Given the description of an element on the screen output the (x, y) to click on. 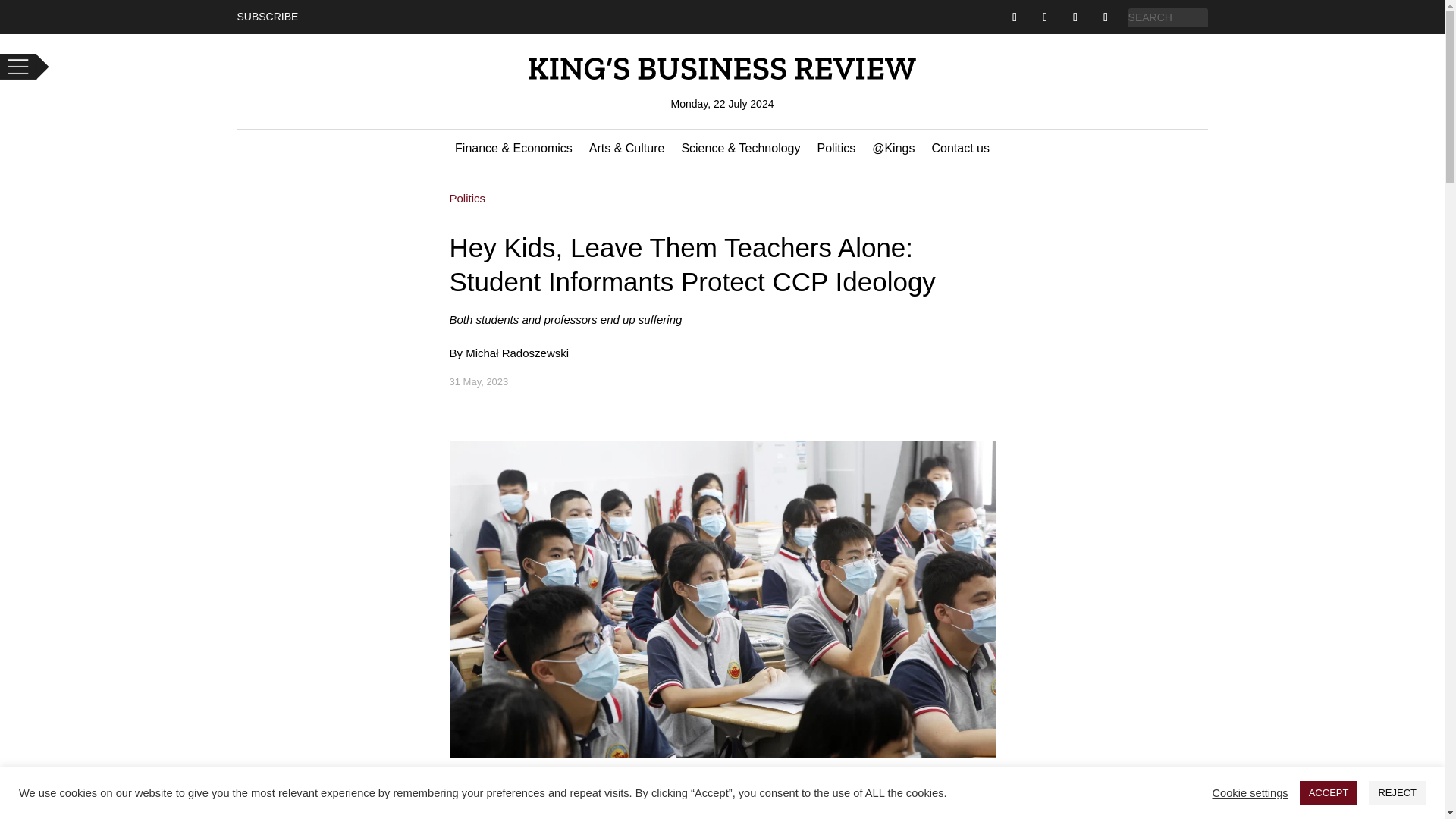
Follow on LinkedIn (1105, 16)
Politics (836, 151)
Contact us (959, 151)
KBR-Logo-Horizontal (721, 68)
Follow on Twitter (1044, 16)
Follow on Instagram (1074, 16)
Search (24, 9)
Politics (466, 197)
Follow on Facebook (1014, 16)
